Given the description of an element on the screen output the (x, y) to click on. 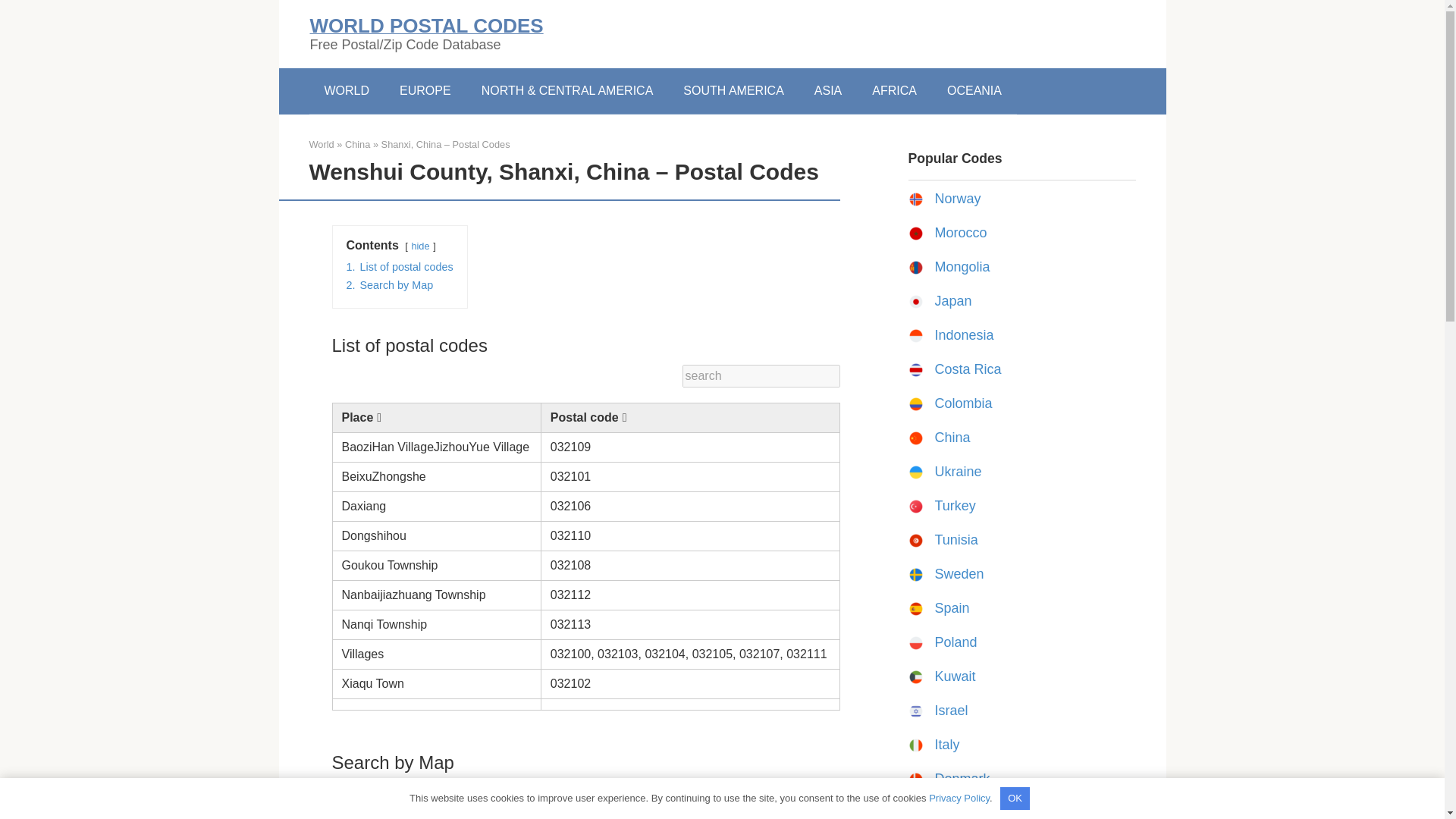
Turkey (954, 505)
Indonesia (963, 335)
1. List of postal codes (399, 266)
hide (419, 245)
WORLD POSTAL CODES (425, 25)
ASIA (828, 90)
SOUTH AMERICA (732, 90)
China (357, 143)
AFRICA (894, 90)
Morocco (960, 232)
EUROPE (424, 90)
OCEANIA (973, 90)
Colombia (962, 403)
WORLD (346, 90)
Norway (956, 198)
